Given the description of an element on the screen output the (x, y) to click on. 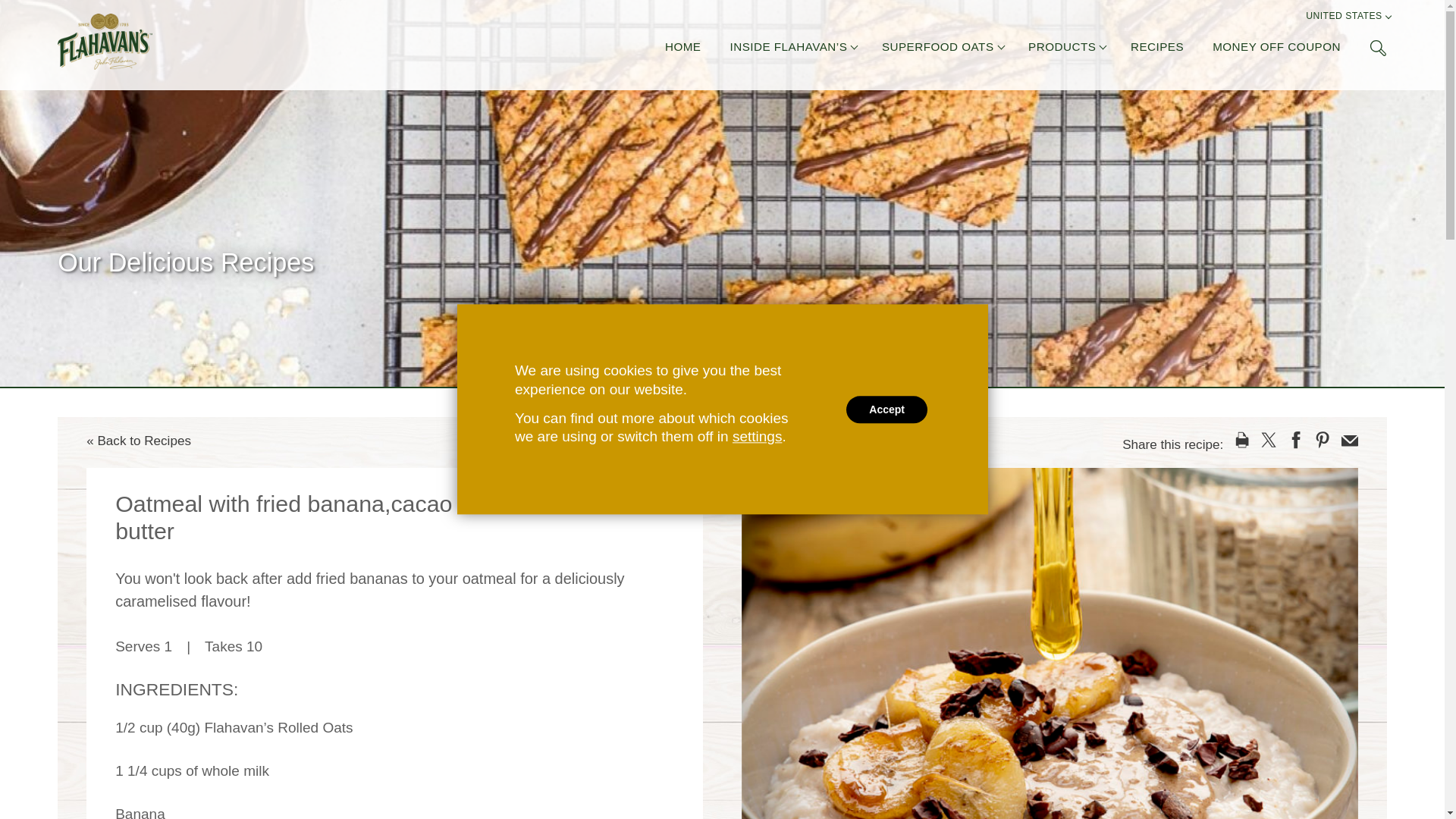
Facebook (1295, 439)
HOME (683, 49)
Print (1241, 439)
SEARCH (1378, 47)
Twitter (1268, 439)
SUPERFOOD OATS (938, 49)
MONEY OFF COUPON (1276, 49)
RECIPES (1157, 49)
PRODUCTS (1061, 49)
FLAHAVAN'S, NOT YOUR RUN OF THE MILL OATS (105, 41)
UNITED STATES (1343, 18)
Email (1349, 439)
